Given the description of an element on the screen output the (x, y) to click on. 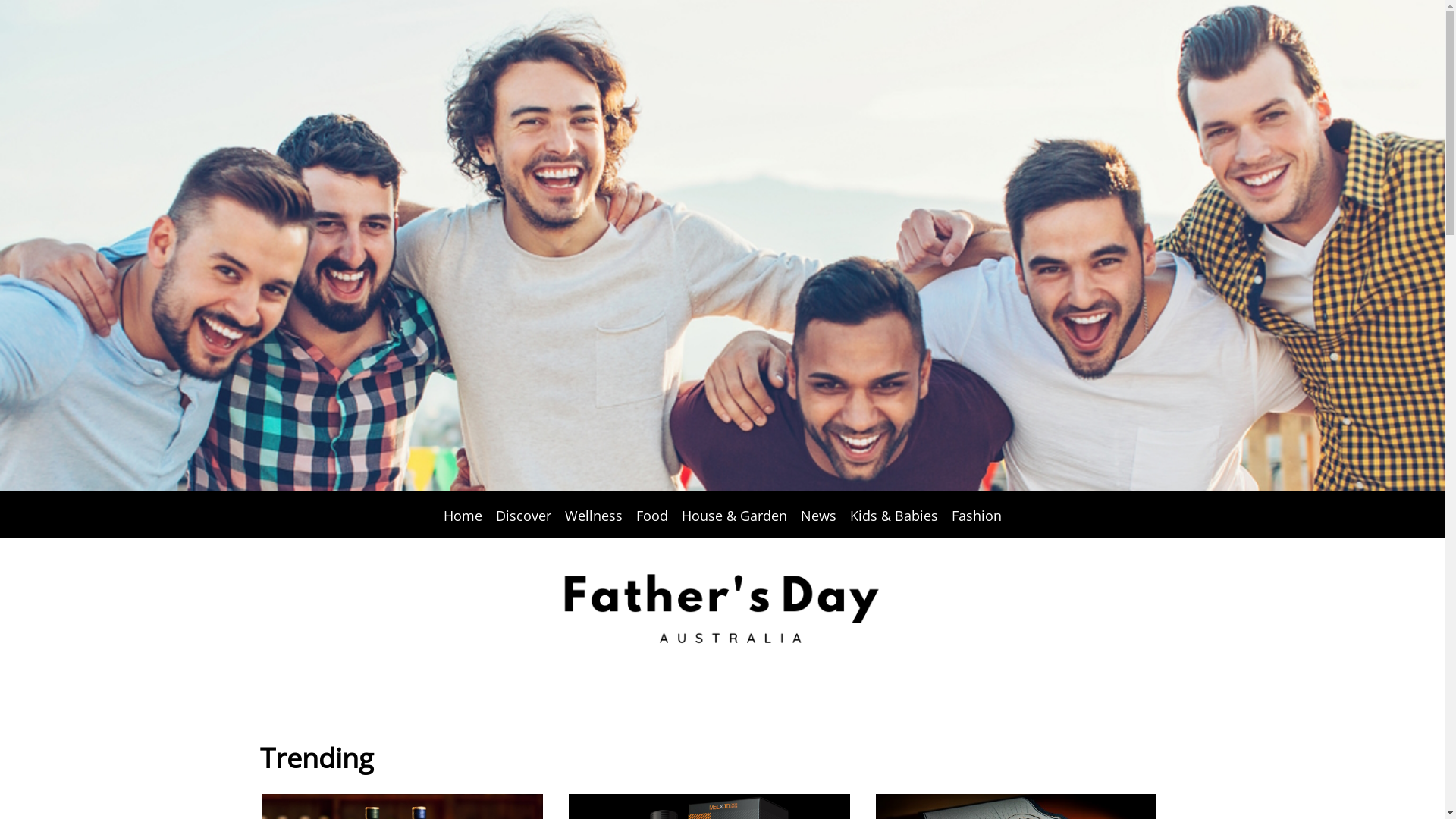
Discover Element type: text (522, 515)
House & Garden Element type: text (733, 515)
News Element type: text (817, 515)
Wellness Element type: text (593, 515)
Home Element type: text (462, 515)
Fashion Element type: text (976, 515)
Food Element type: text (651, 515)
Kids & Babies Element type: text (893, 515)
